Given the description of an element on the screen output the (x, y) to click on. 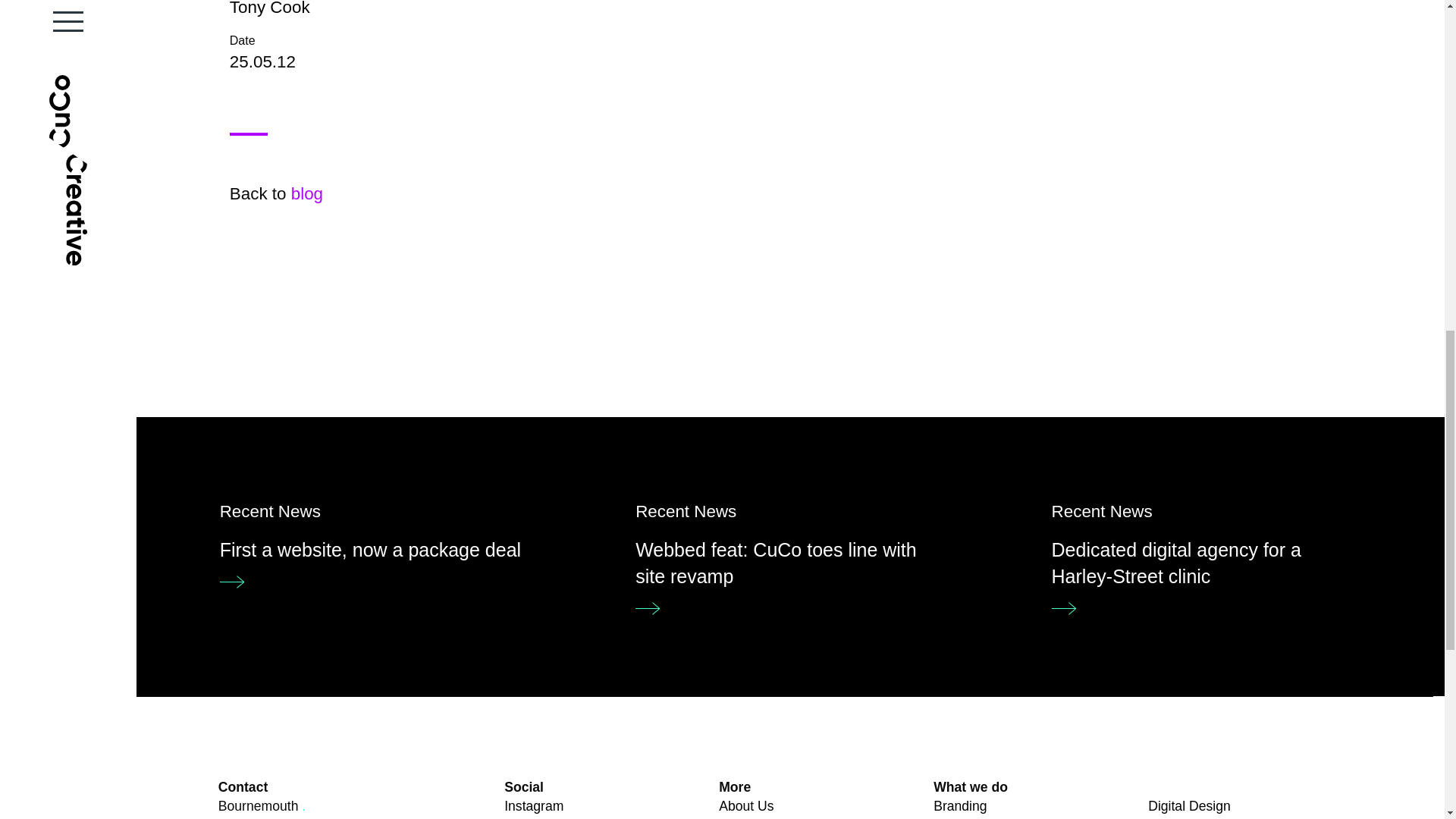
Sustainability (758, 818)
Instagram (533, 806)
Facebook (532, 818)
blog (307, 192)
Tony Cook (374, 541)
About Us (270, 8)
